Given the description of an element on the screen output the (x, y) to click on. 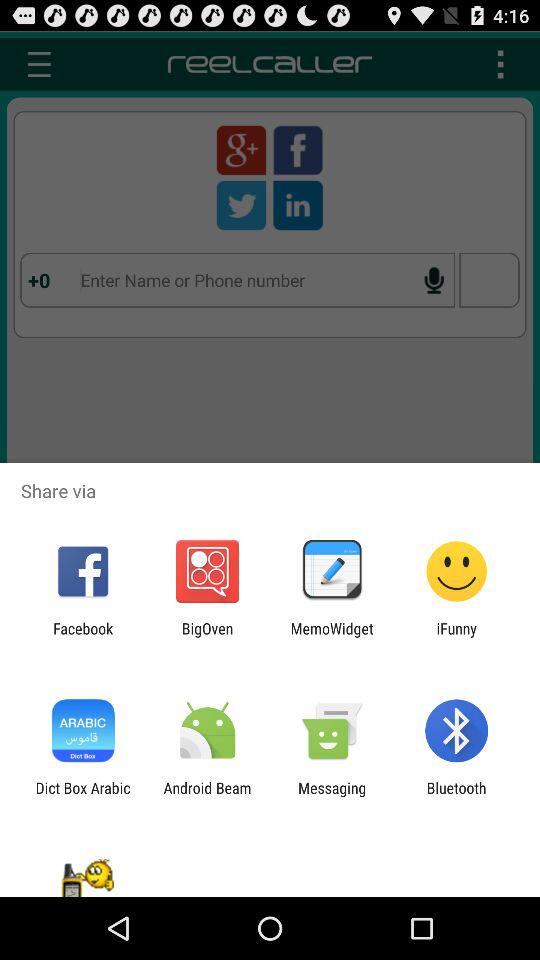
open the item next to the dict box arabic app (207, 796)
